Given the description of an element on the screen output the (x, y) to click on. 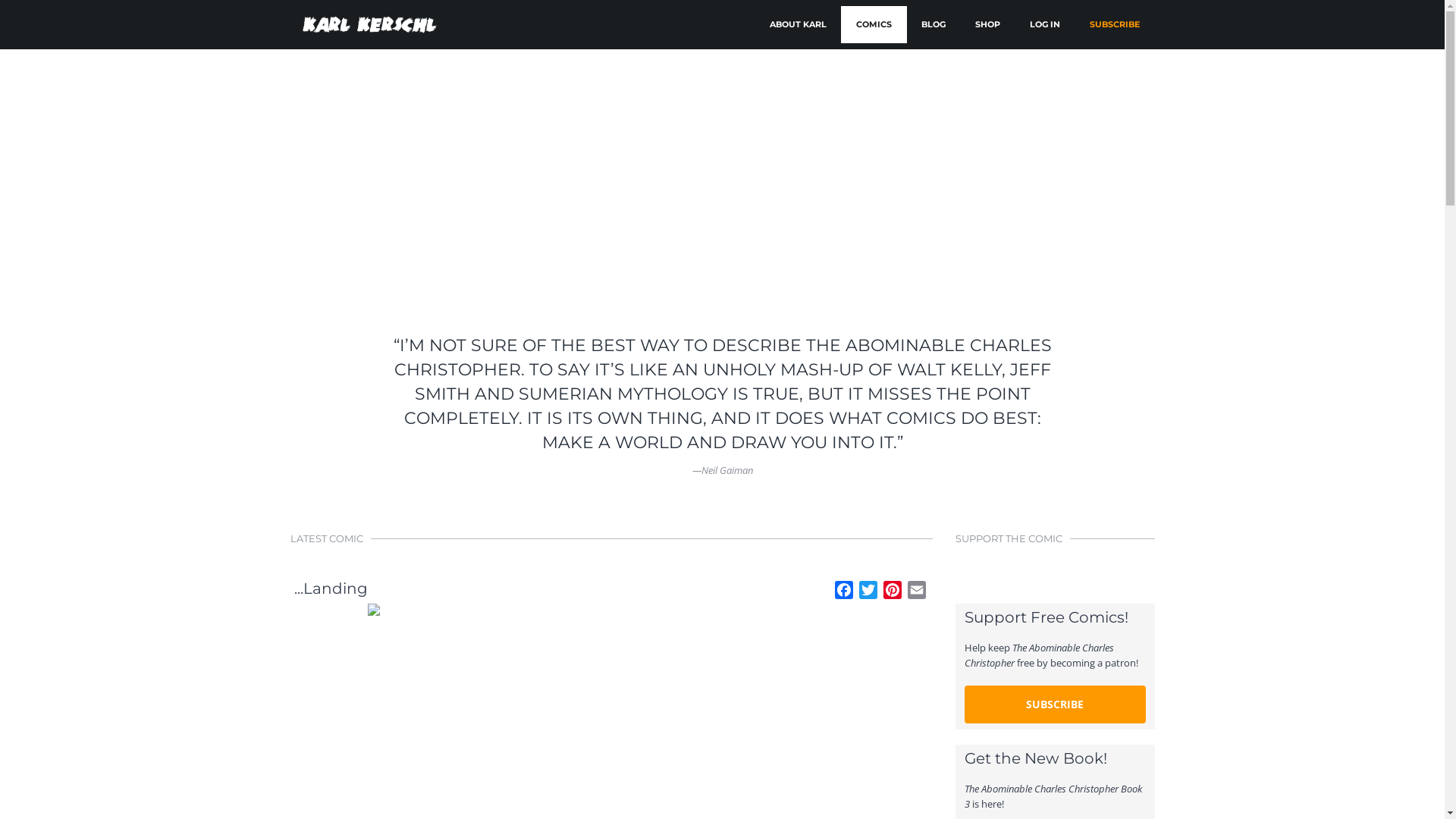
Email Element type: text (916, 591)
Pinterest Element type: text (892, 591)
ABOUT KARL Element type: text (796, 24)
SHOP Element type: text (987, 24)
COMICS Element type: text (873, 24)
Twitter Element type: text (868, 591)
SUBSCRIBE Element type: text (1054, 704)
karlkerschl Element type: hover (367, 24)
SUBSCRIBE Element type: text (1113, 24)
BLOG Element type: text (932, 24)
Facebook Element type: text (843, 591)
LOG IN Element type: text (1044, 24)
SKIP TO PRIMARY CONTENT Element type: text (814, 18)
SKIP TO SECONDARY CONTENT Element type: text (821, 18)
